Given the description of an element on the screen output the (x, y) to click on. 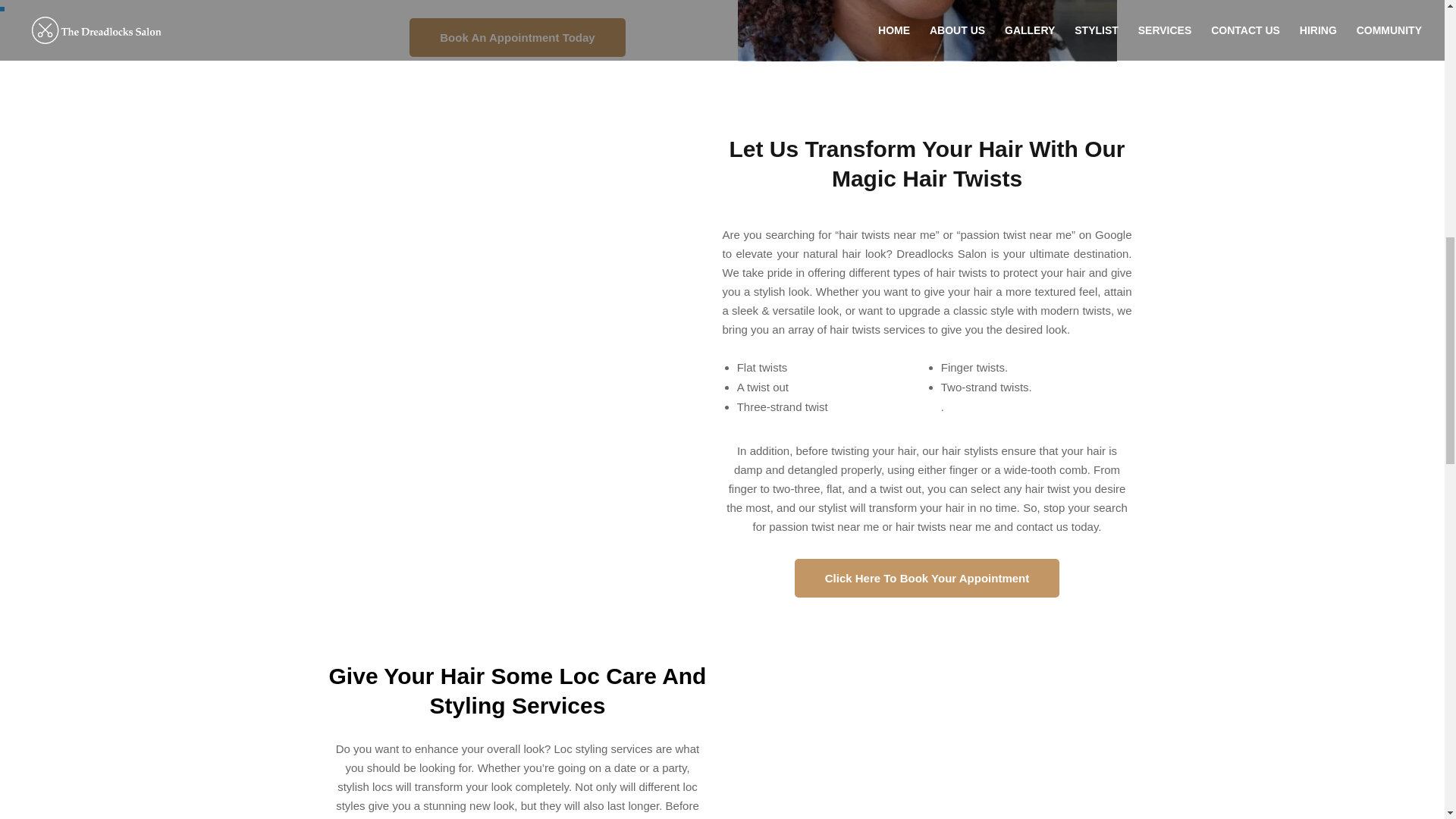
Book An Appointment Today (516, 37)
Click Here To Book Your Appointment (926, 577)
